Given the description of an element on the screen output the (x, y) to click on. 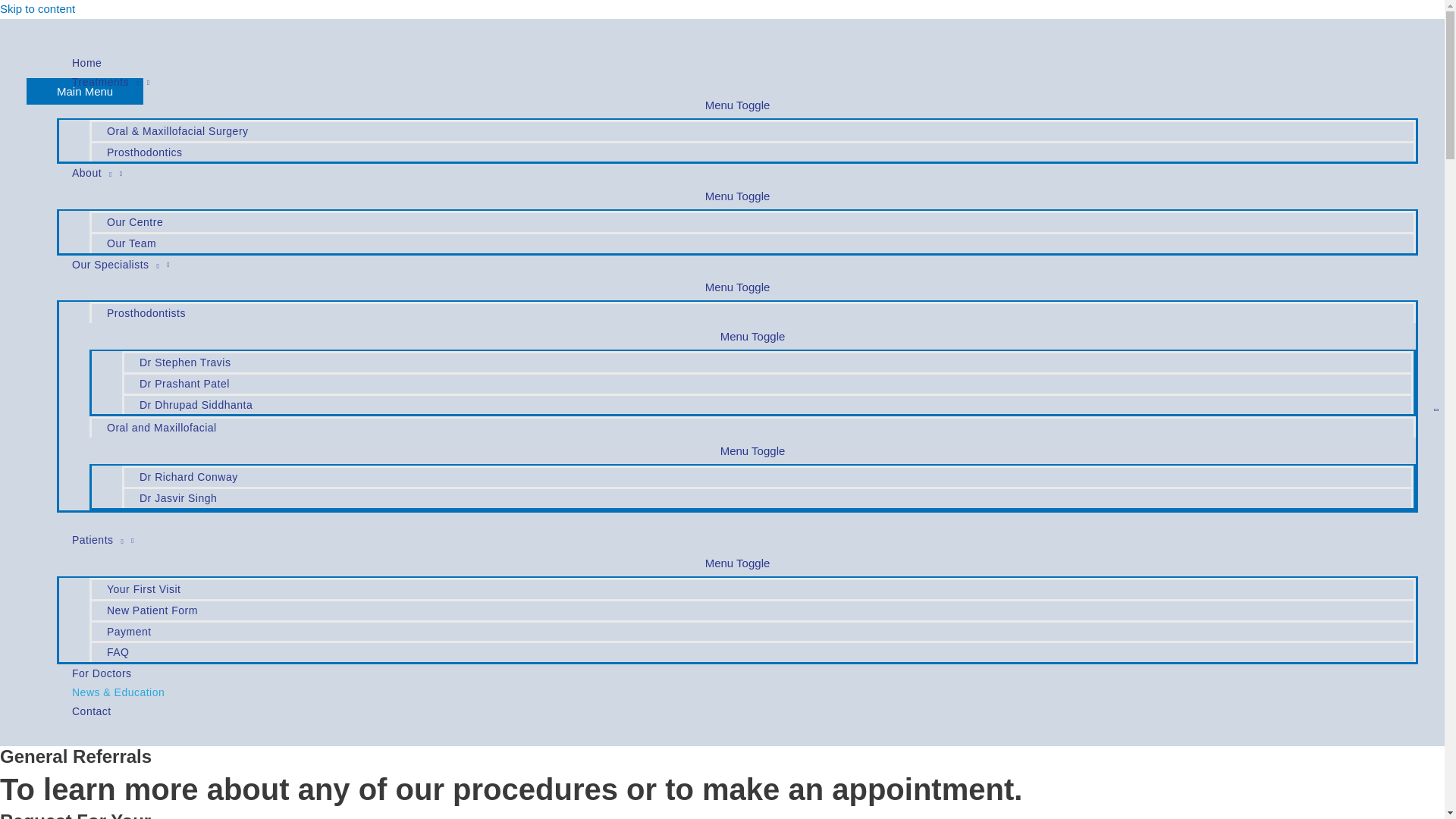
Menu Toggle (751, 335)
Treatments (737, 81)
Menu Toggle (737, 104)
Dr Jasvir Singh (767, 496)
Contact (737, 711)
About (737, 172)
For Doctors (737, 673)
New Patient Form (751, 608)
Our Centre (751, 220)
Menu Toggle (751, 450)
Skip to content (37, 8)
Menu Toggle (737, 286)
Payment (751, 630)
Menu Toggle (737, 562)
Skip to content (37, 8)
